Given the description of an element on the screen output the (x, y) to click on. 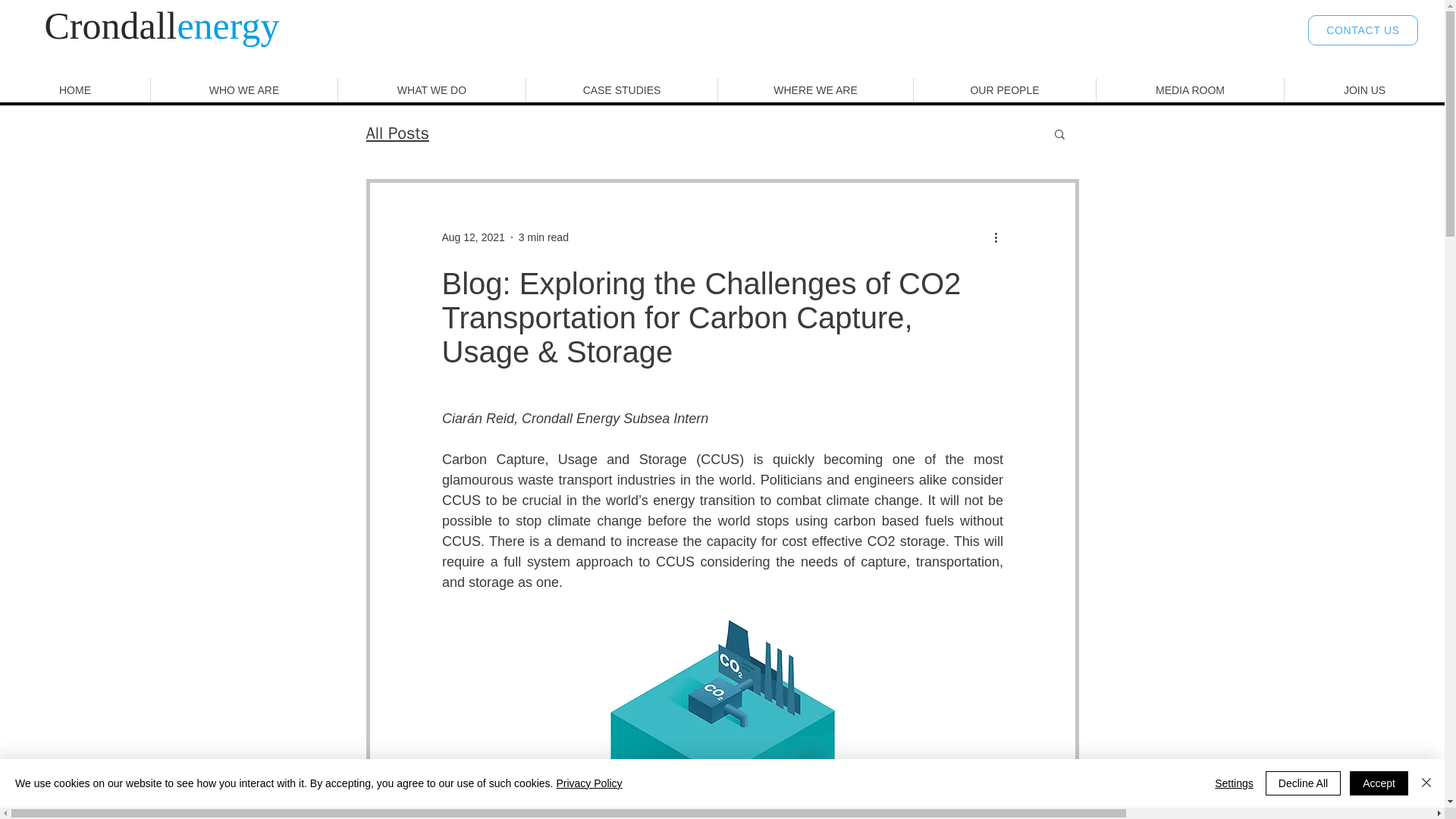
Crondallenergy (161, 25)
MEDIA ROOM (1190, 89)
JOIN US (1364, 89)
WHERE WE ARE (814, 89)
HOME (74, 89)
WHO WE ARE (243, 89)
All Posts (397, 133)
WHAT WE DO (431, 89)
CASE STUDIES (621, 89)
OUR PEOPLE (1004, 89)
3 min read (543, 236)
CONTACT US (1362, 30)
Aug 12, 2021 (472, 236)
